Given the description of an element on the screen output the (x, y) to click on. 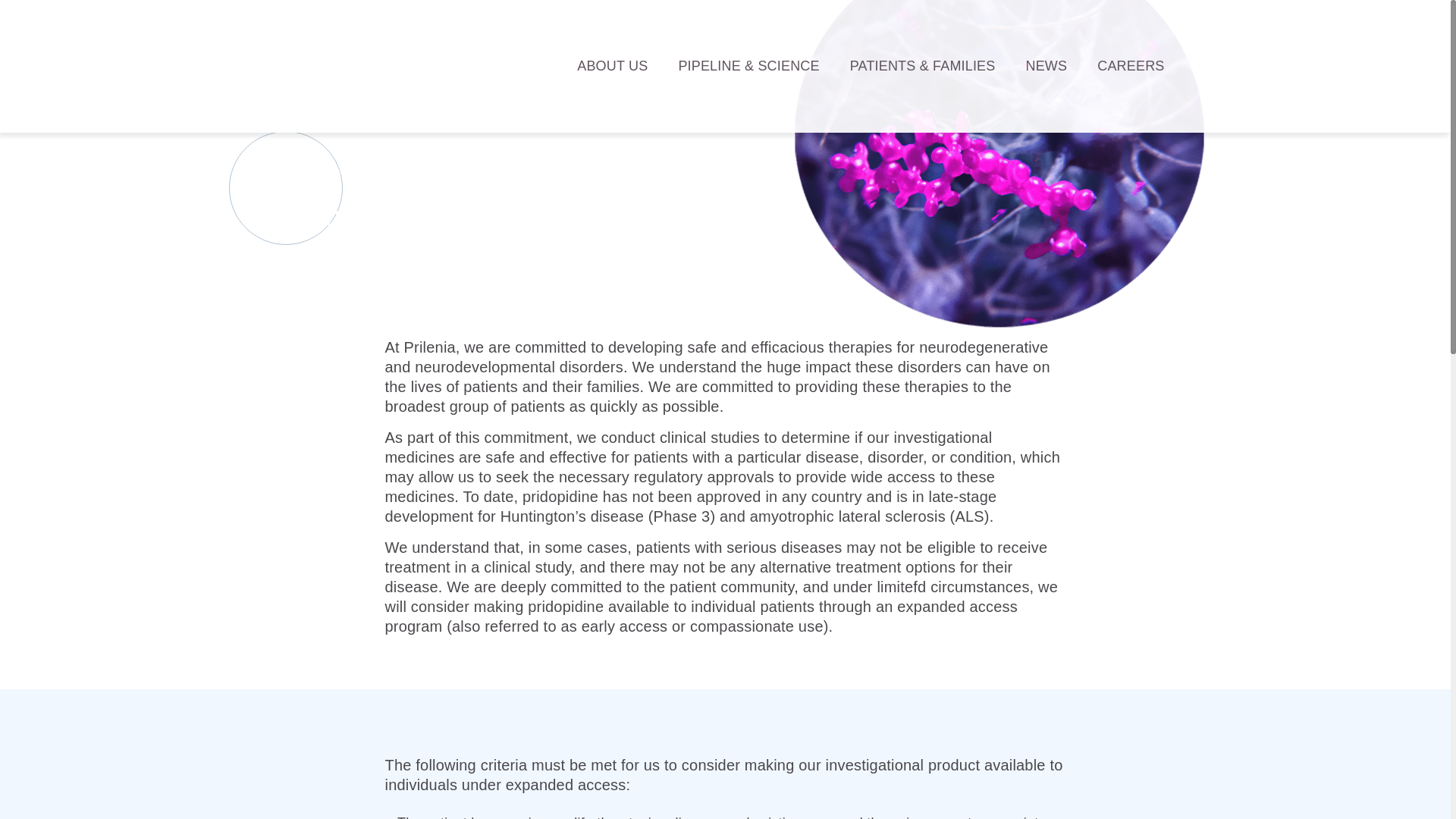
Visit the homepage (341, 66)
ABOUT US (611, 69)
NEWS (1046, 69)
CAREERS (1130, 69)
